Given the description of an element on the screen output the (x, y) to click on. 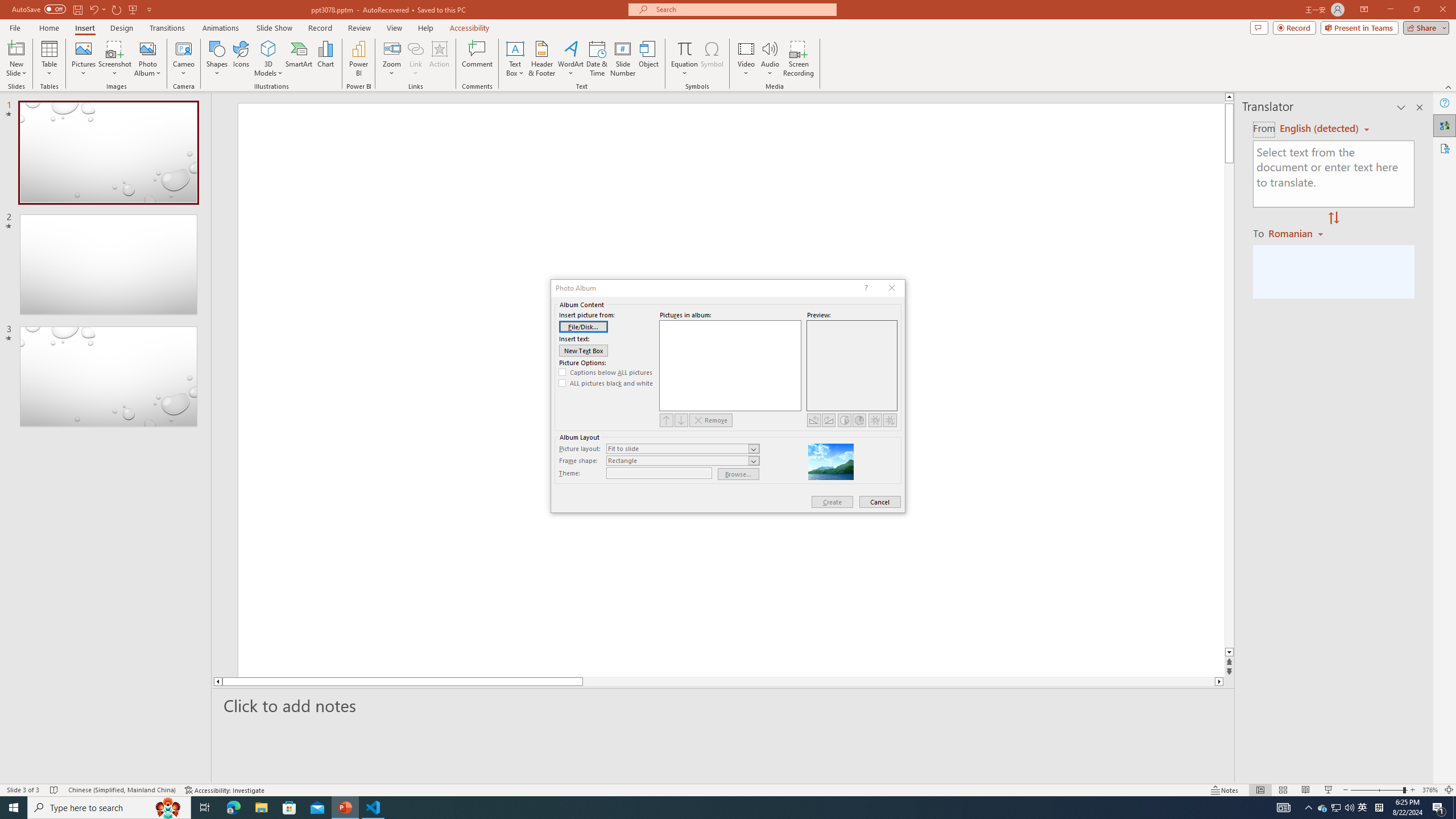
Less Brightness (889, 419)
Power BI (358, 58)
Object... (649, 58)
Action Center, 1 new notification (1439, 807)
